Given the description of an element on the screen output the (x, y) to click on. 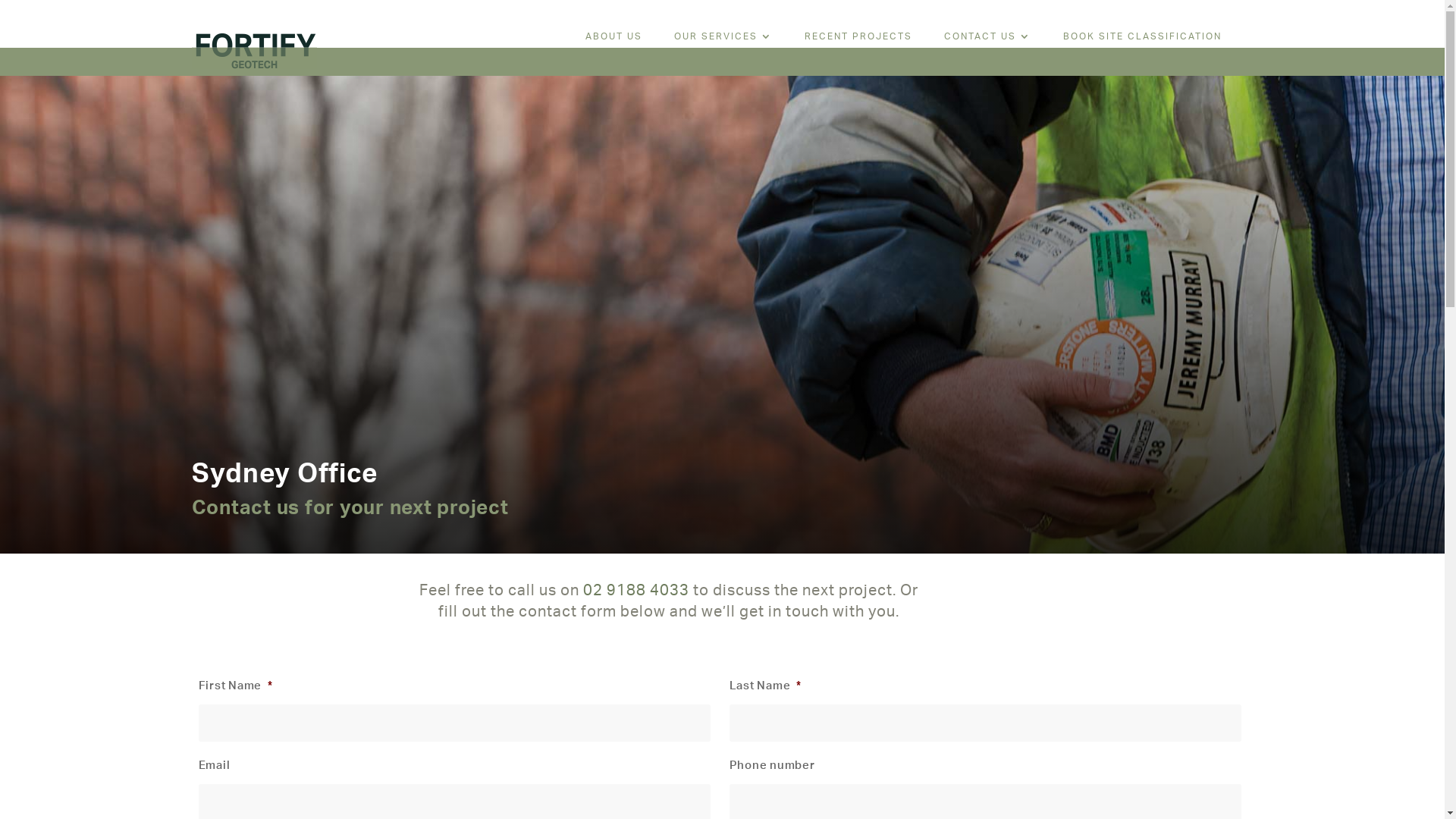
OUR SERVICES Element type: text (722, 39)
RECENT PROJECTS Element type: text (857, 39)
ABOUT US Element type: text (613, 39)
02 9188 4033 Element type: text (636, 590)
CONTACT US Element type: text (986, 39)
BOOK SITE CLASSIFICATION Element type: text (1142, 39)
